Given the description of an element on the screen output the (x, y) to click on. 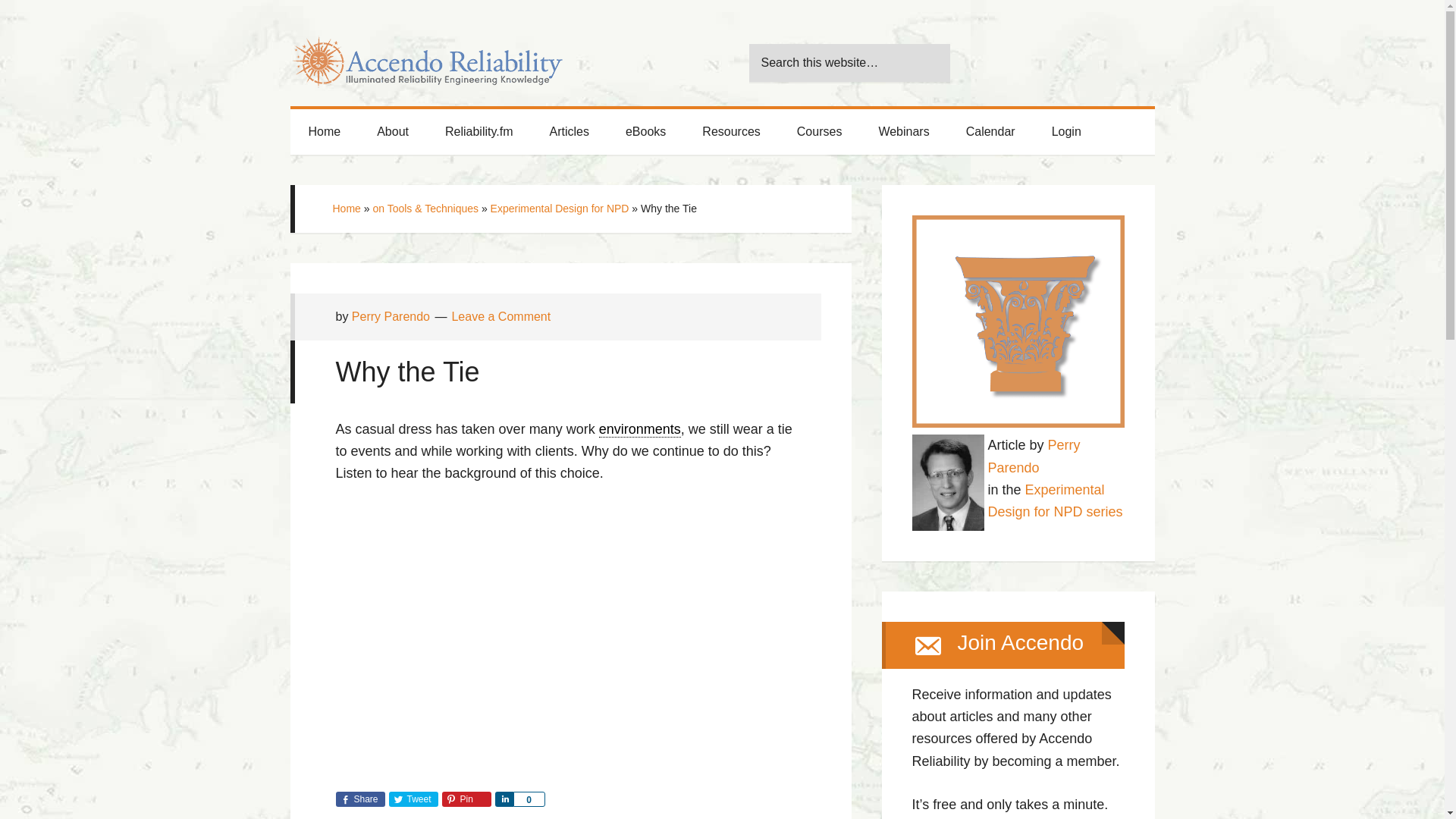
Free downloads for Accendo Reliability members (645, 131)
Home (323, 131)
Articles (569, 131)
A reliability engineering focused podcast network (478, 131)
Home page (323, 131)
Accendo Reliability (425, 53)
About (392, 131)
Reliability.fm (478, 131)
